Given the description of an element on the screen output the (x, y) to click on. 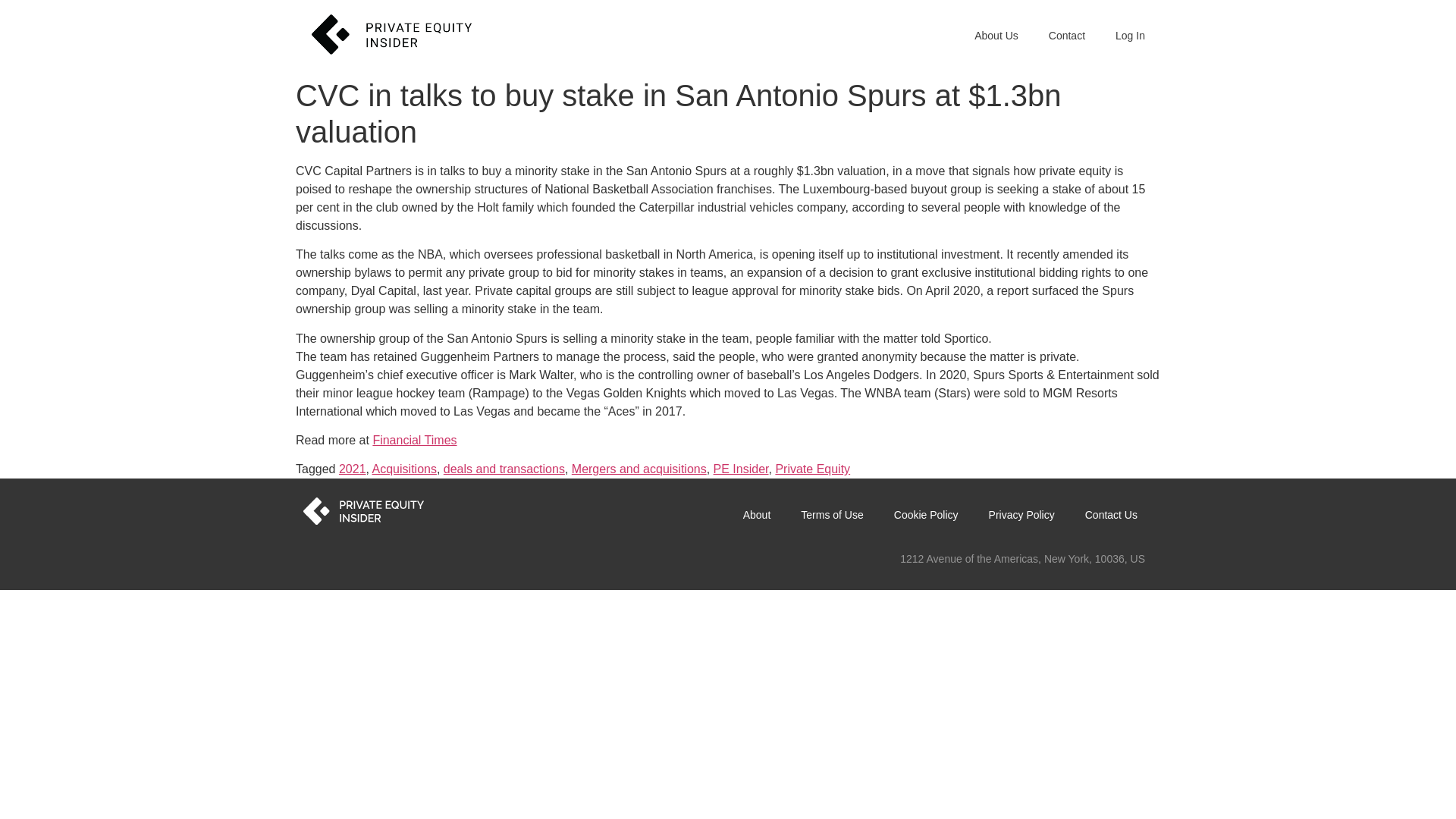
Contact Us (1111, 514)
Acquisitions (404, 468)
PE Insider (740, 468)
Privacy Policy (1022, 514)
About Us (996, 35)
About (757, 514)
deals and transactions (504, 468)
Private Equity (812, 468)
Cookie Policy (926, 514)
Financial Times (414, 440)
Log In (1130, 35)
2021 (352, 468)
Contact (1066, 35)
Mergers and acquisitions (639, 468)
Terms of Use (831, 514)
